Given the description of an element on the screen output the (x, y) to click on. 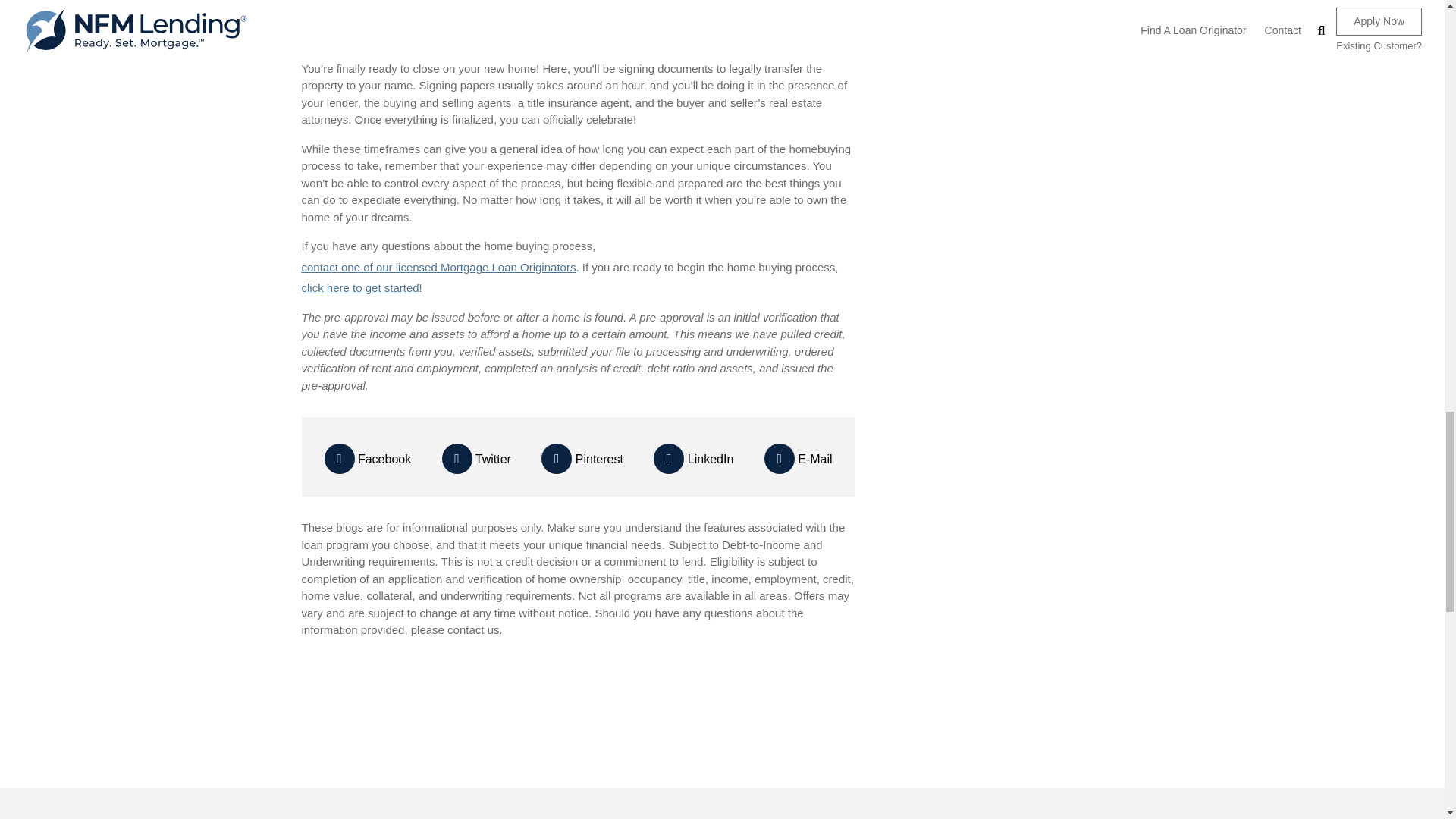
Share via Pinterest (582, 458)
Share via E-Mail (798, 458)
Share via Facebook (368, 458)
Share via LinkedIn (693, 458)
Share via Twitter (476, 458)
